Given the description of an element on the screen output the (x, y) to click on. 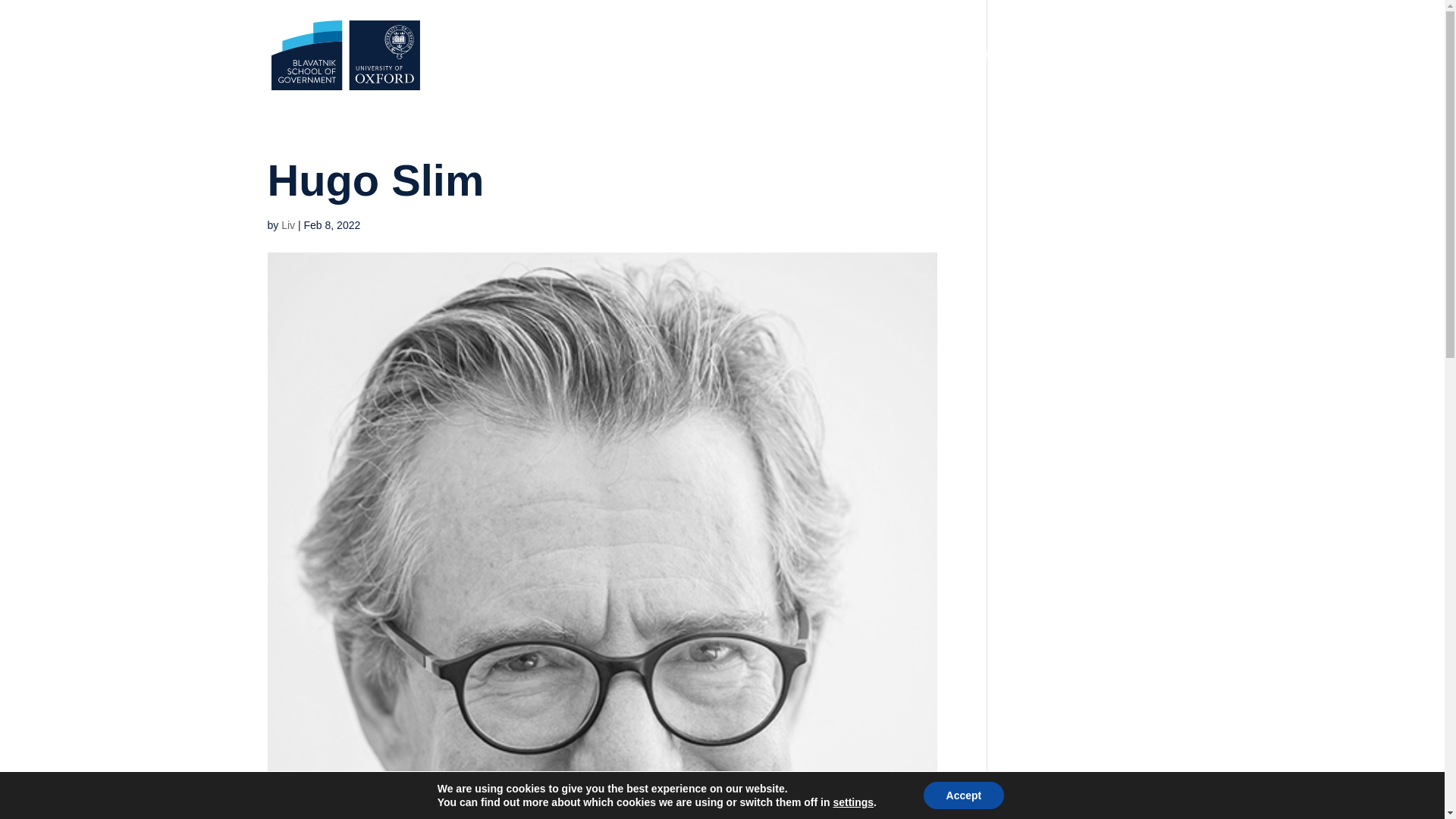
Research themes (745, 79)
Posts by Liv (288, 224)
Publications (1010, 79)
Liv (288, 224)
settings (852, 802)
Accept (963, 795)
